Given the description of an element on the screen output the (x, y) to click on. 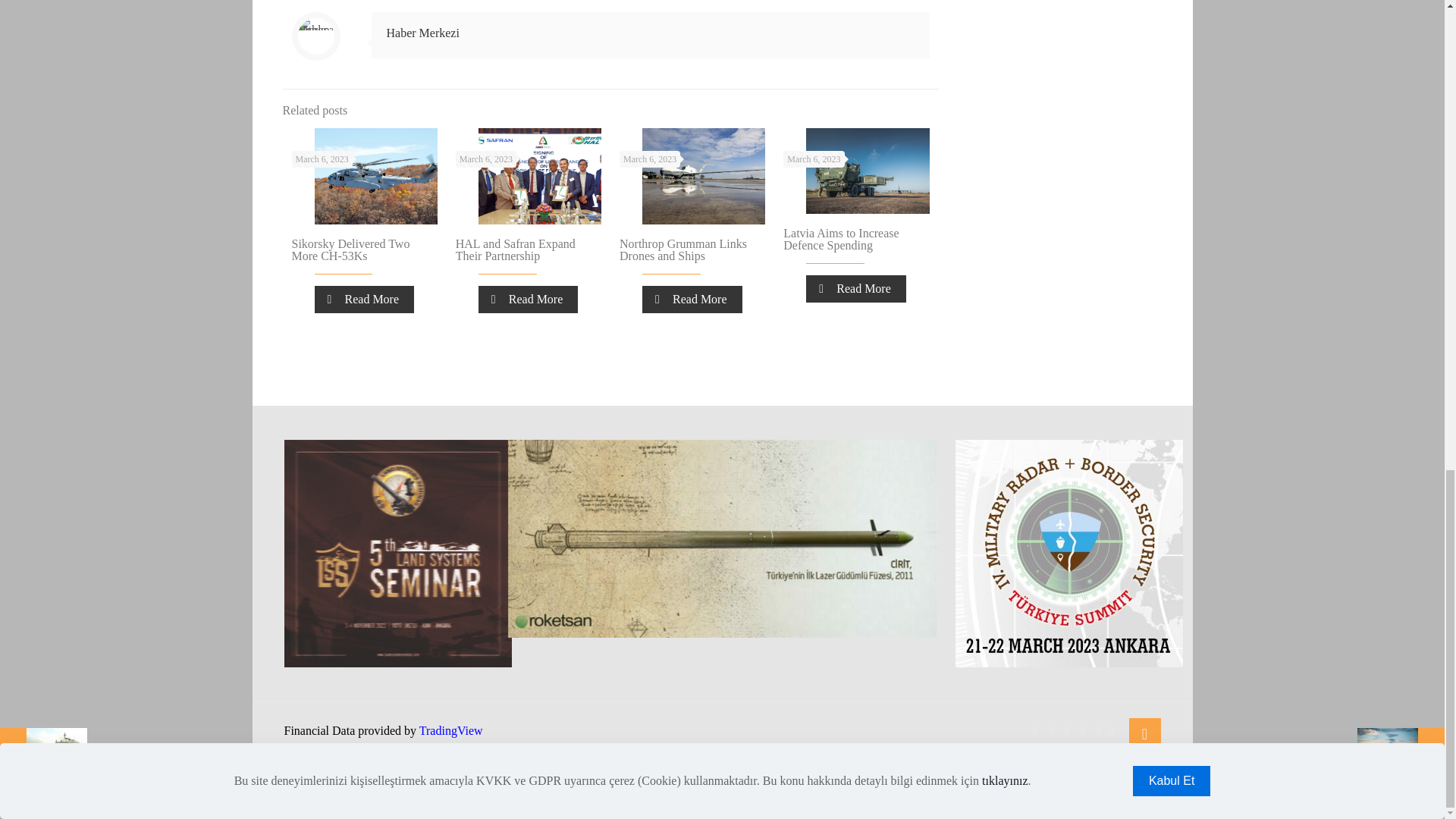
Latvia Aims to Increase Defence Spending (840, 238)
Northrop Grumman Links Drones and Ships (683, 249)
Read More (692, 298)
LinkedIn (1083, 730)
Sikorsky Delivered Two More CH-53Ks (350, 249)
YouTube (1067, 730)
Read More (363, 298)
Instagram (1099, 730)
Facebook (1035, 730)
HAL and Safran Expand Their Partnership (515, 249)
Haber Merkezi (423, 32)
Read More (528, 298)
